Given the description of an element on the screen output the (x, y) to click on. 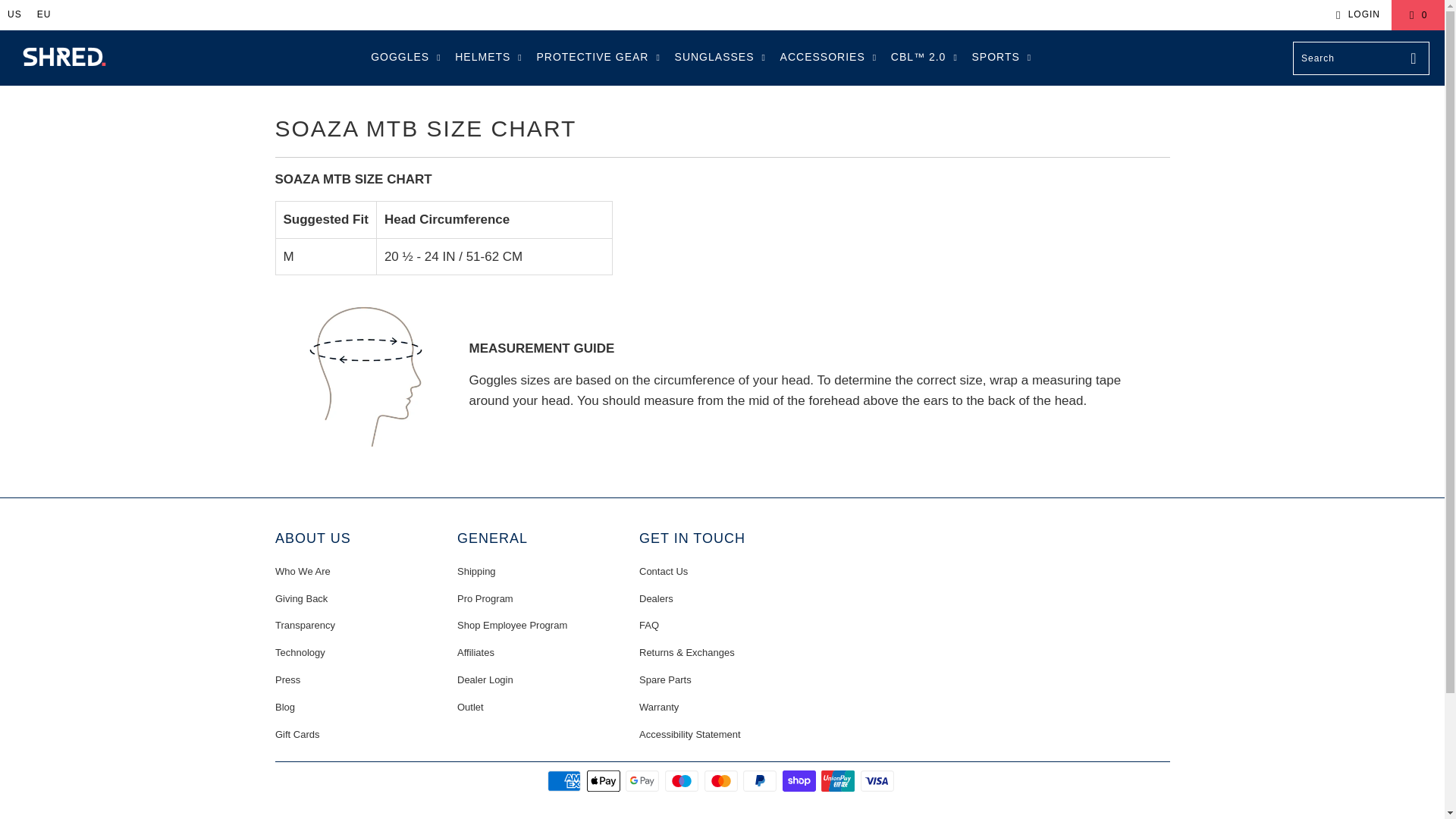
Visa (878, 780)
Apple Pay (604, 780)
PayPal (760, 780)
American Express (565, 780)
Google Pay (644, 780)
Union Pay (839, 780)
Shop Pay (800, 780)
Mastercard (721, 780)
SHRED. (63, 58)
My Account  (1355, 14)
